Given the description of an element on the screen output the (x, y) to click on. 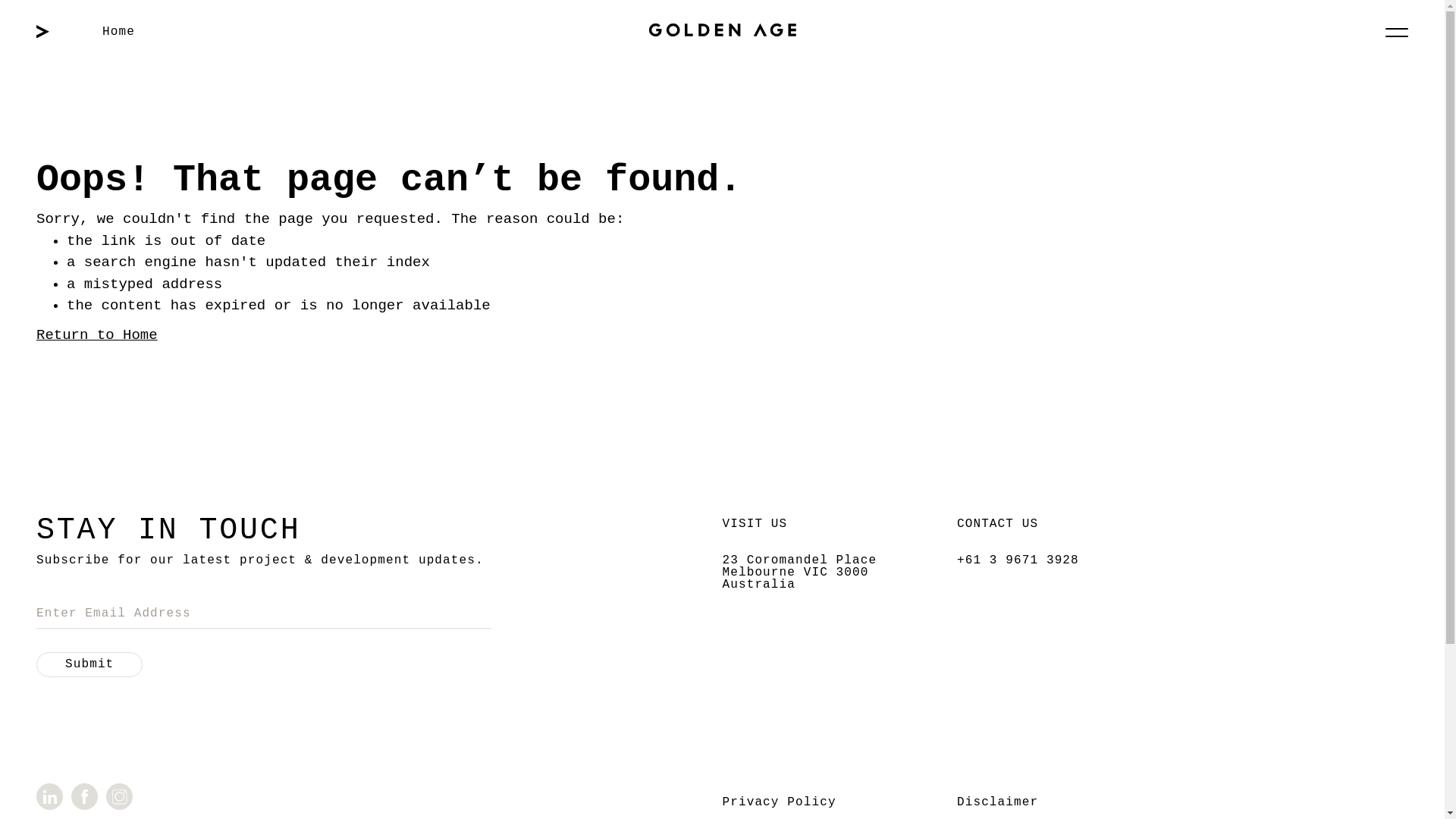
Disclaimer Element type: text (997, 802)
Skip to content Element type: text (0, 0)
Privacy Policy Element type: text (778, 802)
Return to Home Element type: text (96, 334)
+61 3 9671 3928 Element type: text (1018, 560)
Home Element type: text (118, 31)
Submit Element type: text (89, 664)
